Given the description of an element on the screen output the (x, y) to click on. 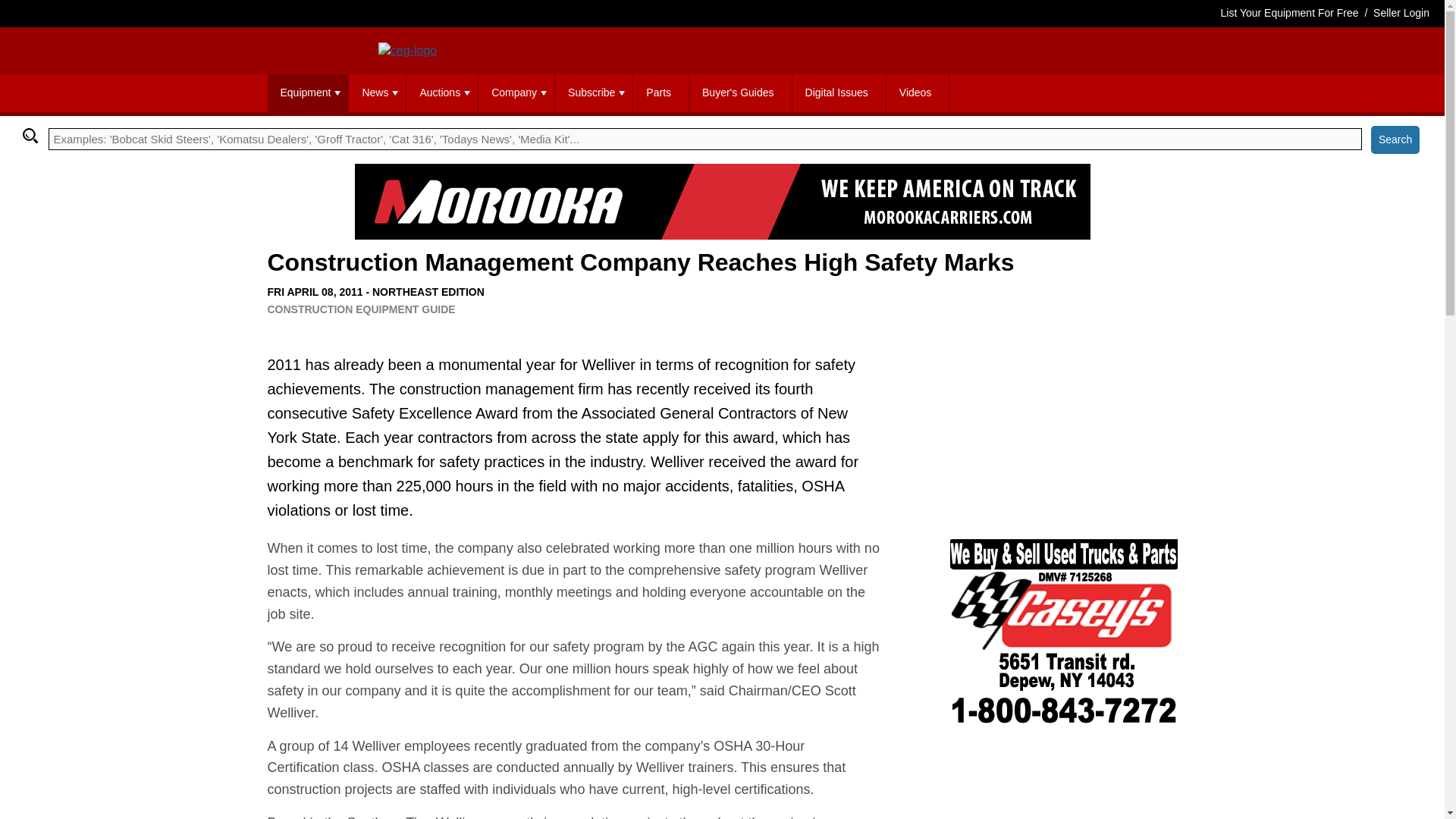
Seller Login (1401, 12)
List Your Equipment For Free (1289, 12)
